Given the description of an element on the screen output the (x, y) to click on. 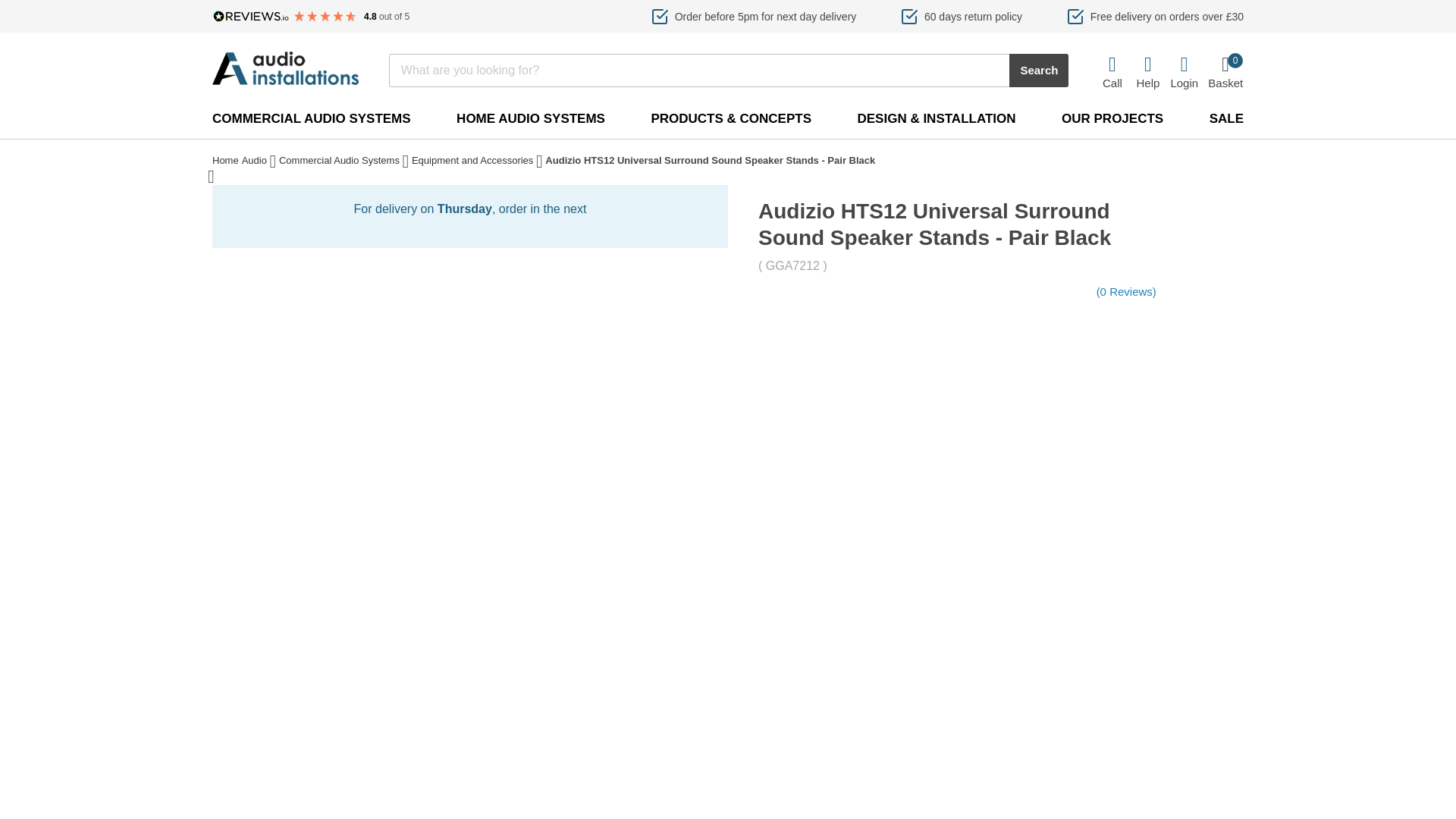
4.8 out of 5 (310, 16)
COMMERCIAL AUDIO SYSTEMS (311, 118)
Search (1038, 70)
Go to Home Page (225, 161)
Audio Installations (285, 68)
Search (1225, 71)
